Given the description of an element on the screen output the (x, y) to click on. 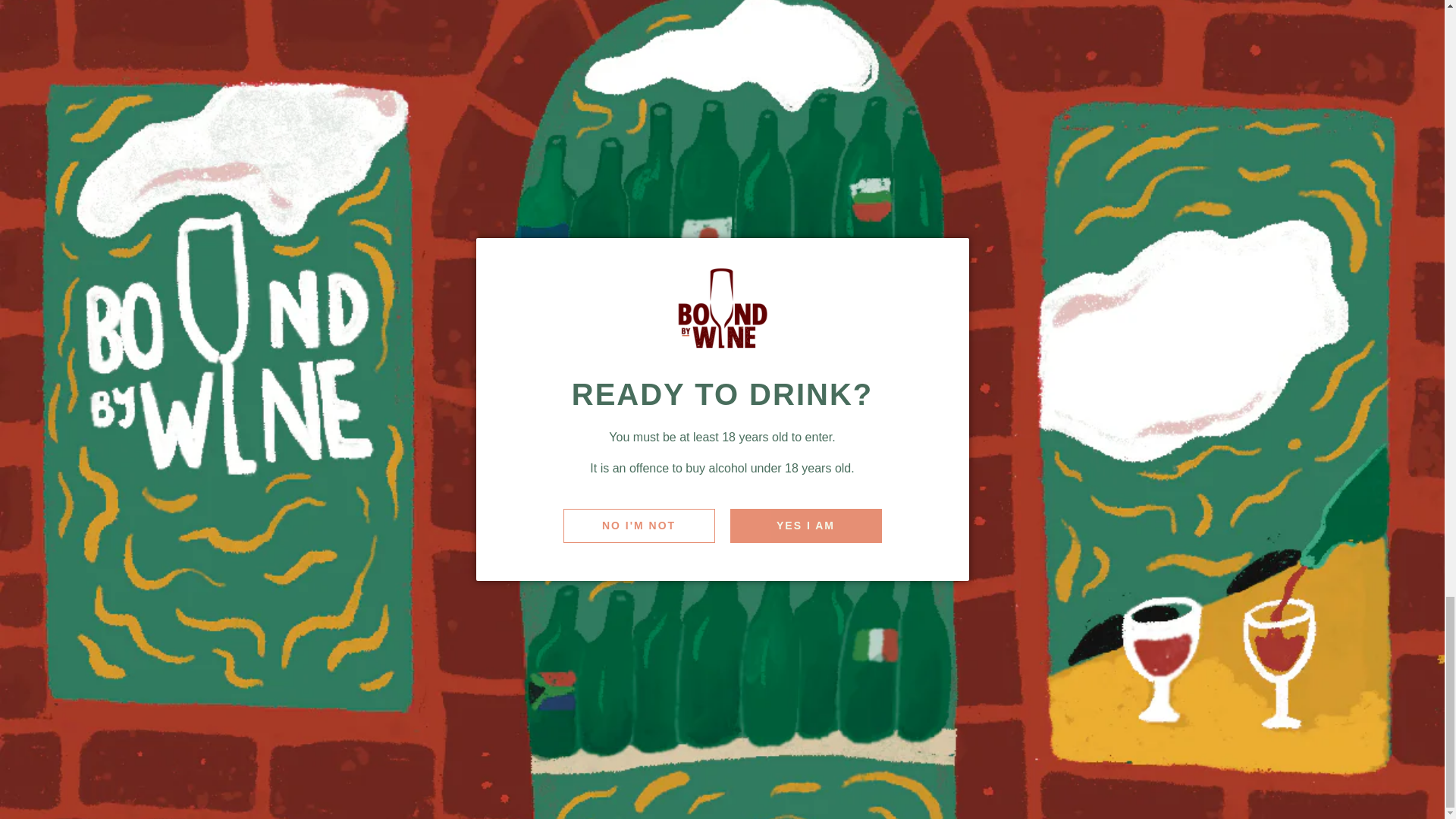
Mastercard (939, 768)
Google Pay (894, 768)
Apple Pay (848, 768)
American Express (803, 768)
